Given the description of an element on the screen output the (x, y) to click on. 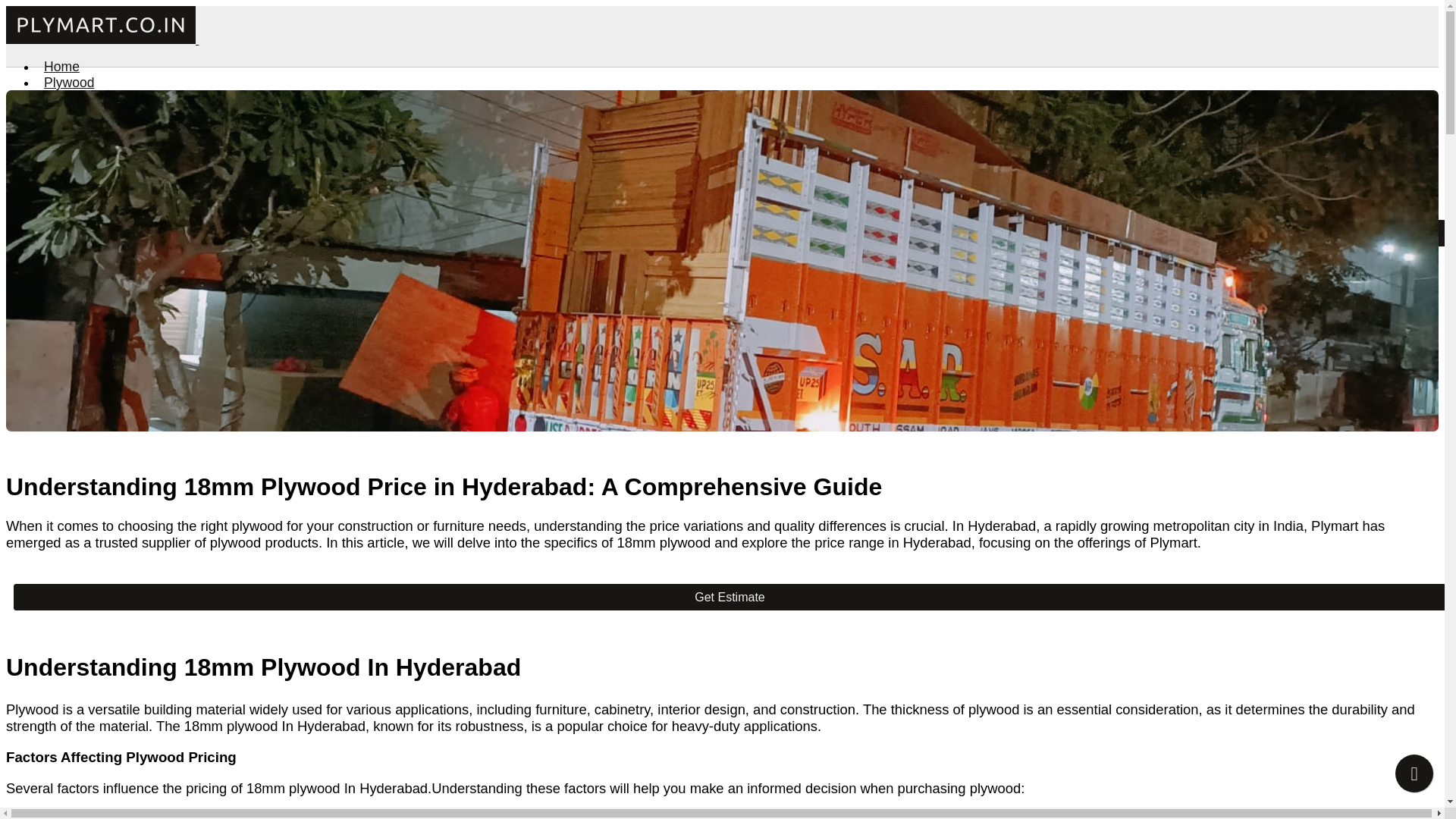
Hardware (68, 113)
Laminate (67, 144)
Super King (365, 97)
Blog (52, 176)
Decor (58, 160)
Contact Us (73, 192)
Auto hinges (69, 129)
Plywood (65, 82)
Amazon Plywood (281, 97)
Home (58, 66)
